Given the description of an element on the screen output the (x, y) to click on. 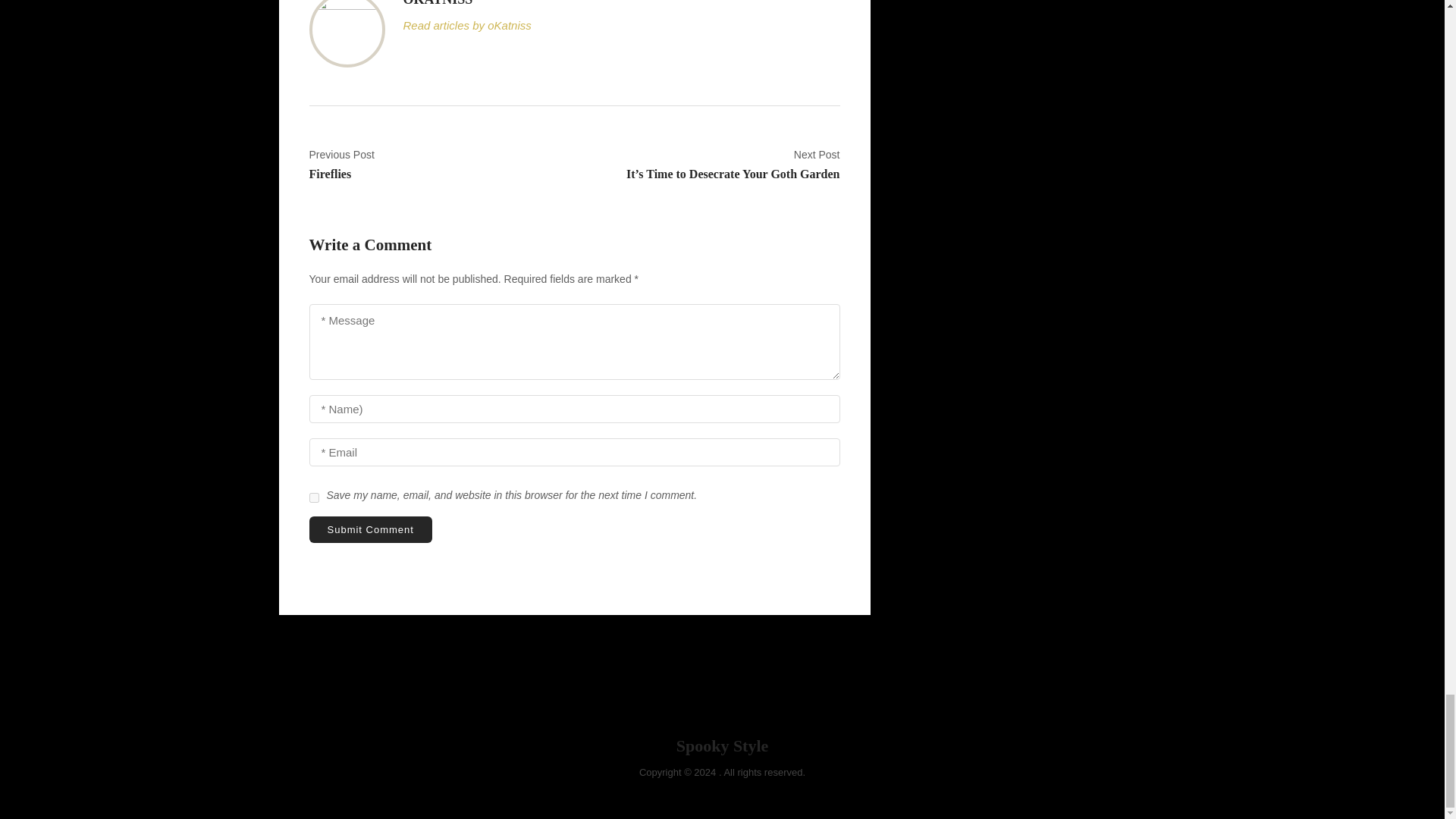
Read articles by oKatniss (621, 25)
yes (435, 165)
Submit Comment (313, 497)
Submit Comment (370, 529)
